Given the description of an element on the screen output the (x, y) to click on. 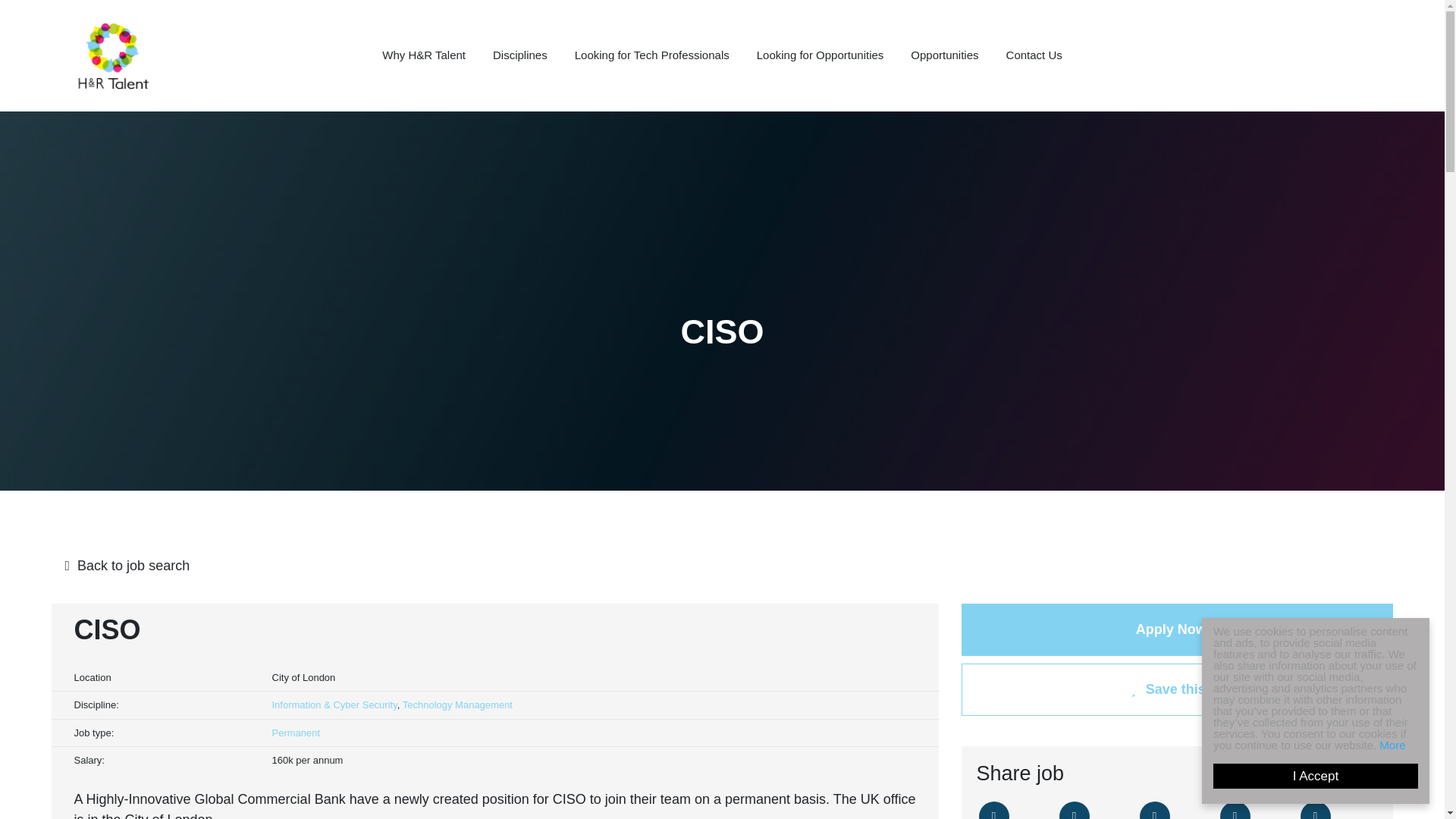
share on LinkedIn (1153, 810)
Tweet this (993, 810)
I Accept (1329, 775)
send in Whatsapp (1315, 810)
Email (1234, 810)
More (1406, 744)
share on Facebook (1073, 810)
